Given the description of an element on the screen output the (x, y) to click on. 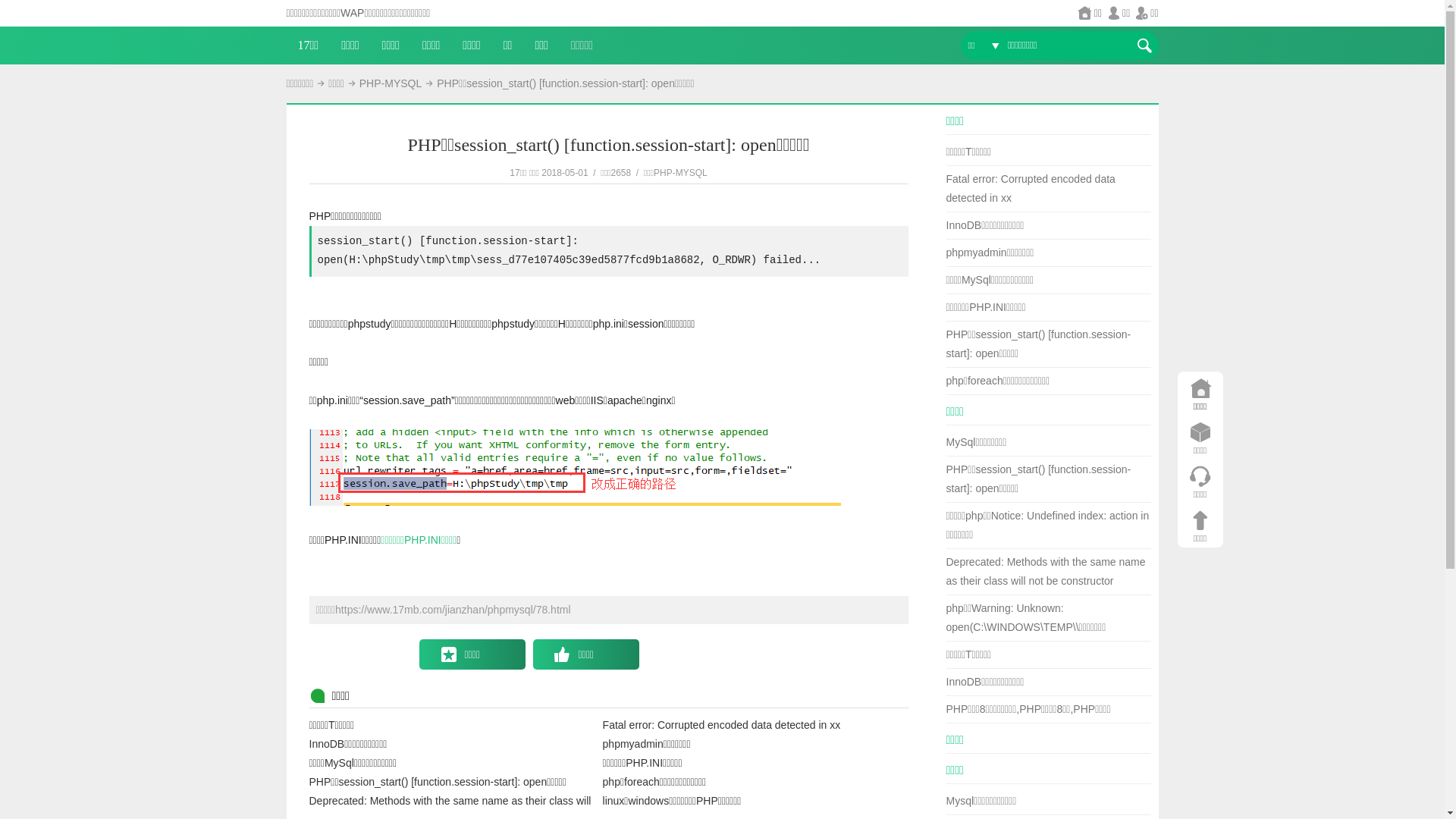
Fatal error: Corrupted encoded data detected in xx Element type: text (1030, 187)
PHP-MYSQL Element type: text (390, 83)
Fatal error: Corrupted encoded data detected in xx Element type: text (721, 724)
